Given the description of an element on the screen output the (x, y) to click on. 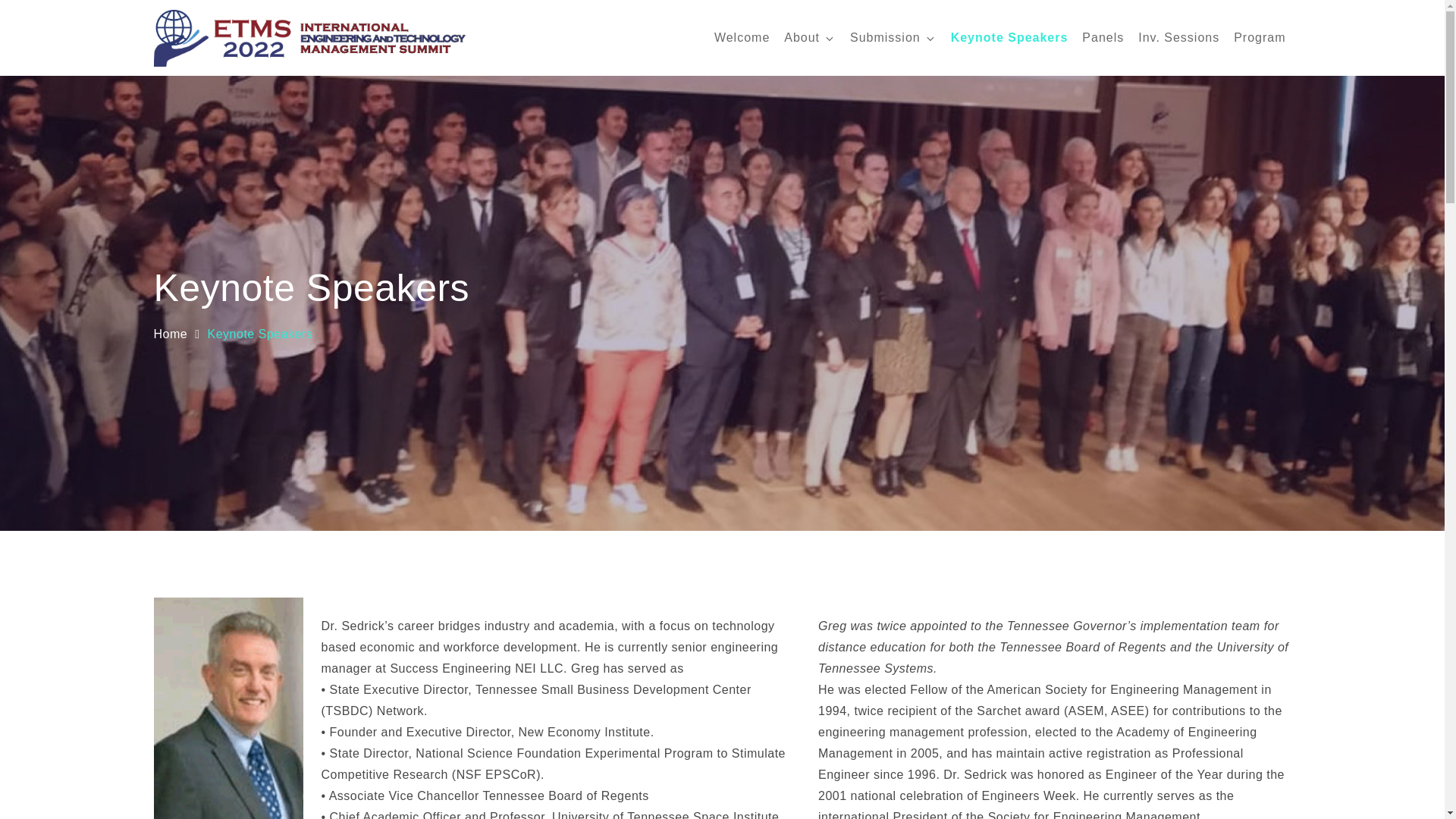
Home (169, 333)
Submission (893, 38)
Inv. Sessions (1178, 38)
Keynote Speakers (1009, 38)
ETMS 2022 (540, 49)
